Given the description of an element on the screen output the (x, y) to click on. 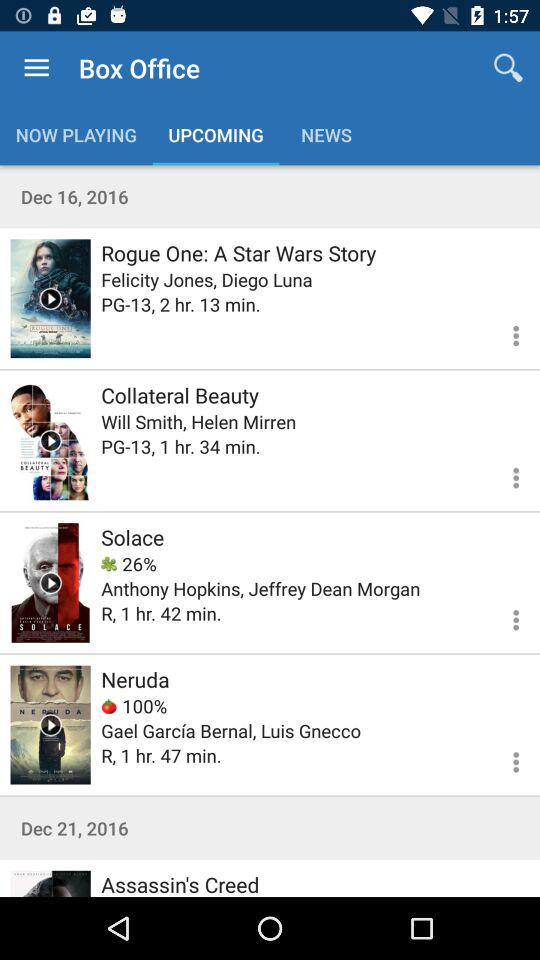
go to the movie (50, 298)
